Given the description of an element on the screen output the (x, y) to click on. 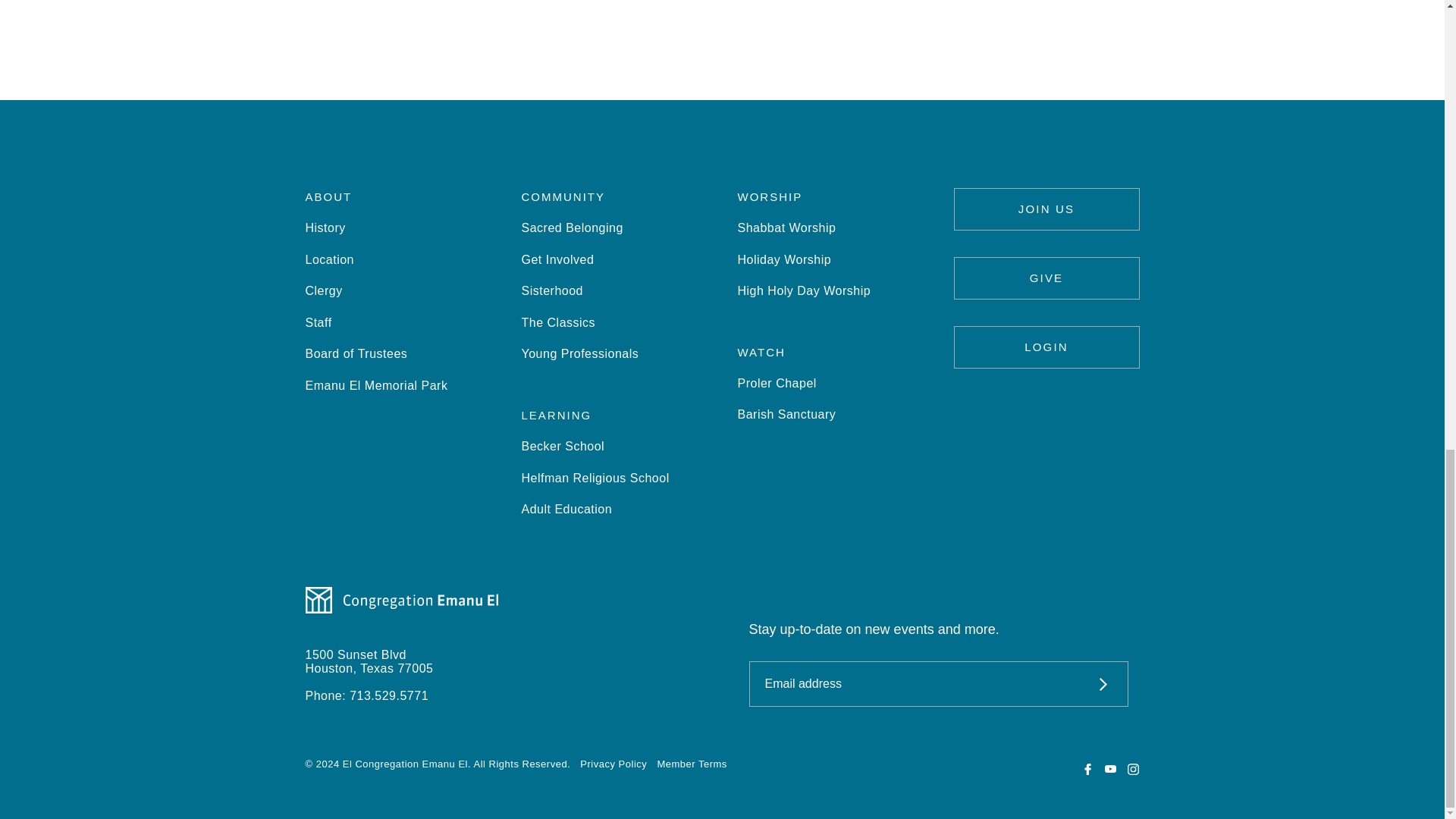
YouTube (1110, 768)
Instagram (1132, 768)
Facebook (1087, 768)
